Given the description of an element on the screen output the (x, y) to click on. 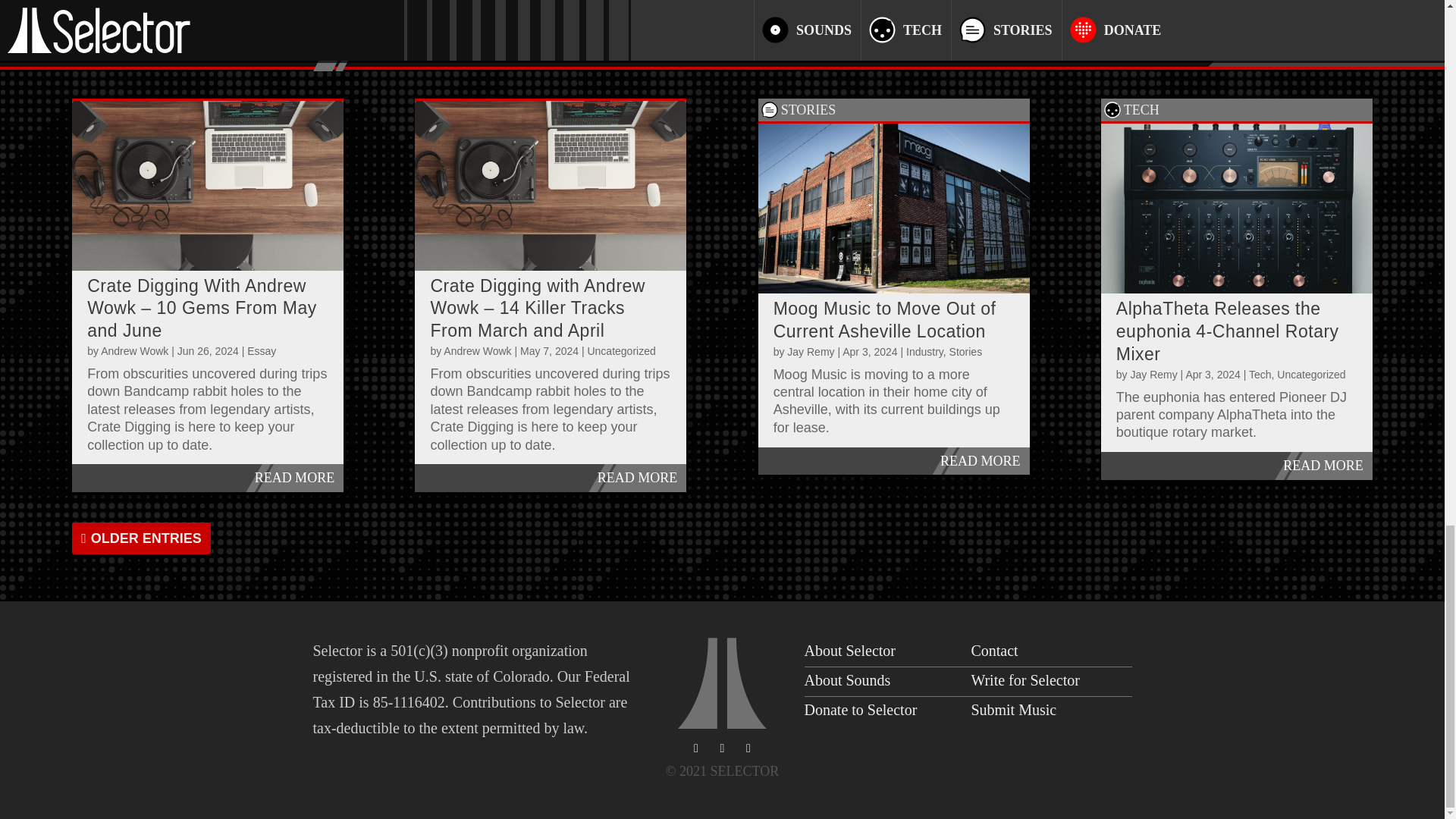
Essay (261, 350)
READ MORE (207, 478)
Posts by Andrew Wowk (477, 350)
Posts by Jay Remy (1152, 374)
Posts by Andrew Wowk (134, 350)
Andrew Wowk (134, 350)
Posts by Jay Remy (810, 351)
